Given the description of an element on the screen output the (x, y) to click on. 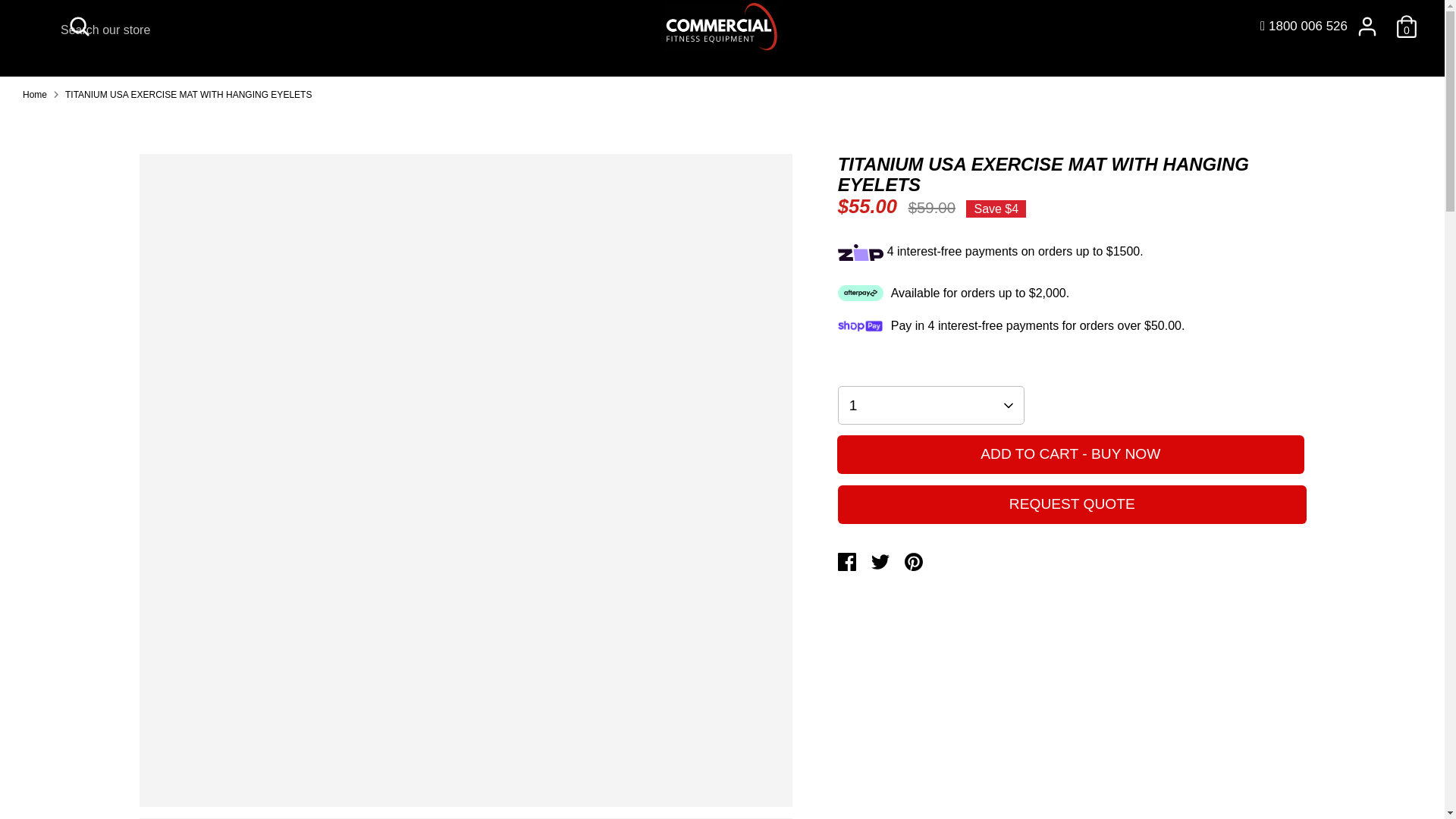
0 (1406, 26)
1800 006 526 (1304, 26)
